Given the description of an element on the screen output the (x, y) to click on. 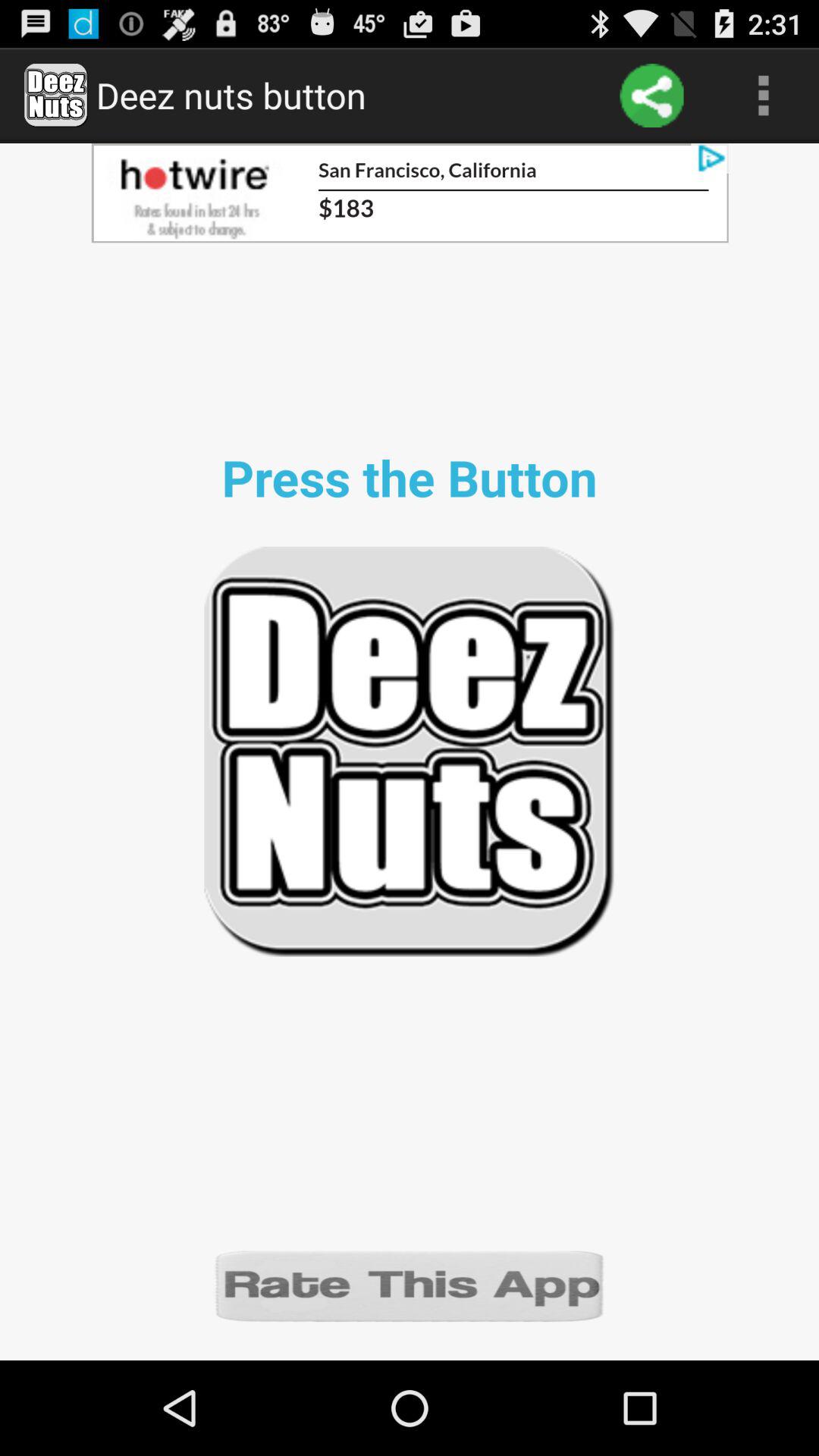
rate this app (409, 1285)
